Given the description of an element on the screen output the (x, y) to click on. 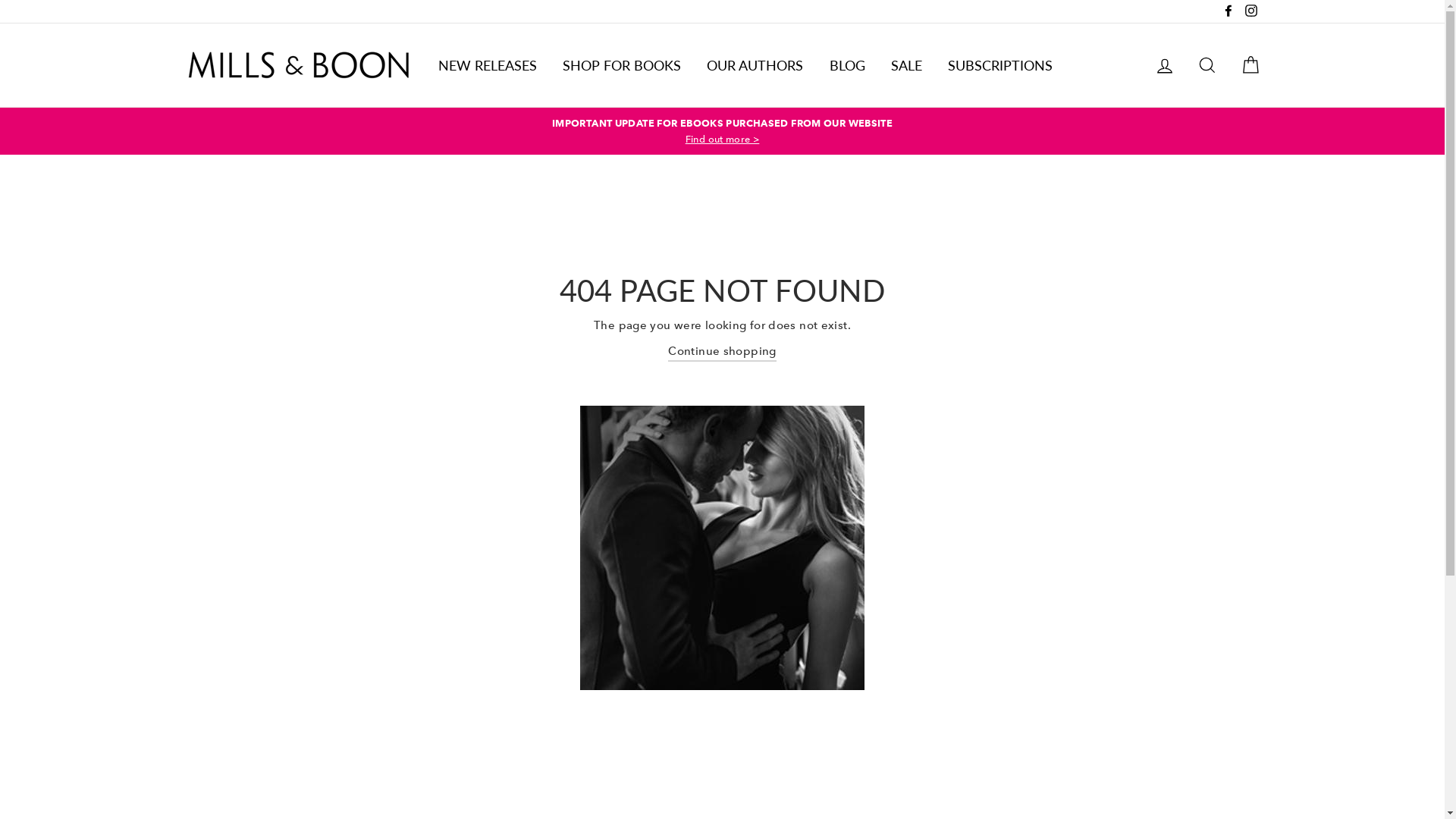
CART Element type: text (1249, 65)
Instagram Element type: text (1250, 11)
OUR AUTHORS Element type: text (754, 65)
LOG IN Element type: text (1164, 65)
Facebook Element type: text (1228, 11)
NEW RELEASES Element type: text (486, 65)
Continue shopping Element type: text (721, 351)
SUBSCRIPTIONS Element type: text (999, 65)
SALE Element type: text (906, 65)
BLOG Element type: text (847, 65)
SEARCH Element type: text (1206, 65)
SHOP FOR BOOKS Element type: text (621, 65)
